Given the description of an element on the screen output the (x, y) to click on. 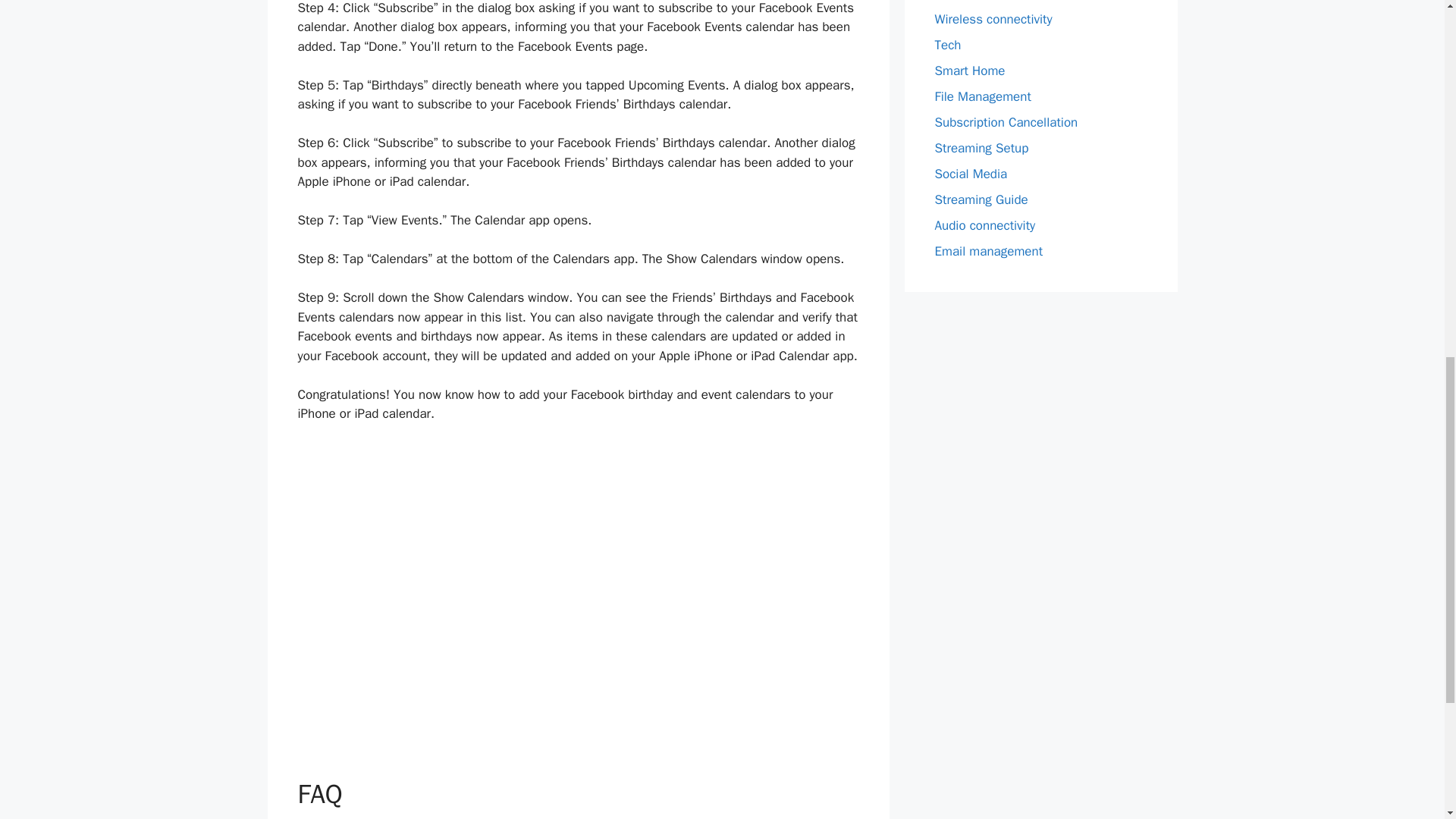
File Management (982, 96)
Subscription Cancellation (1005, 122)
Audio connectivity (984, 225)
Wireless connectivity (992, 19)
Streaming Setup (980, 148)
Tech (947, 44)
Social Media (970, 173)
Email management (988, 251)
Smart Home (969, 70)
Streaming Guide (980, 199)
